Given the description of an element on the screen output the (x, y) to click on. 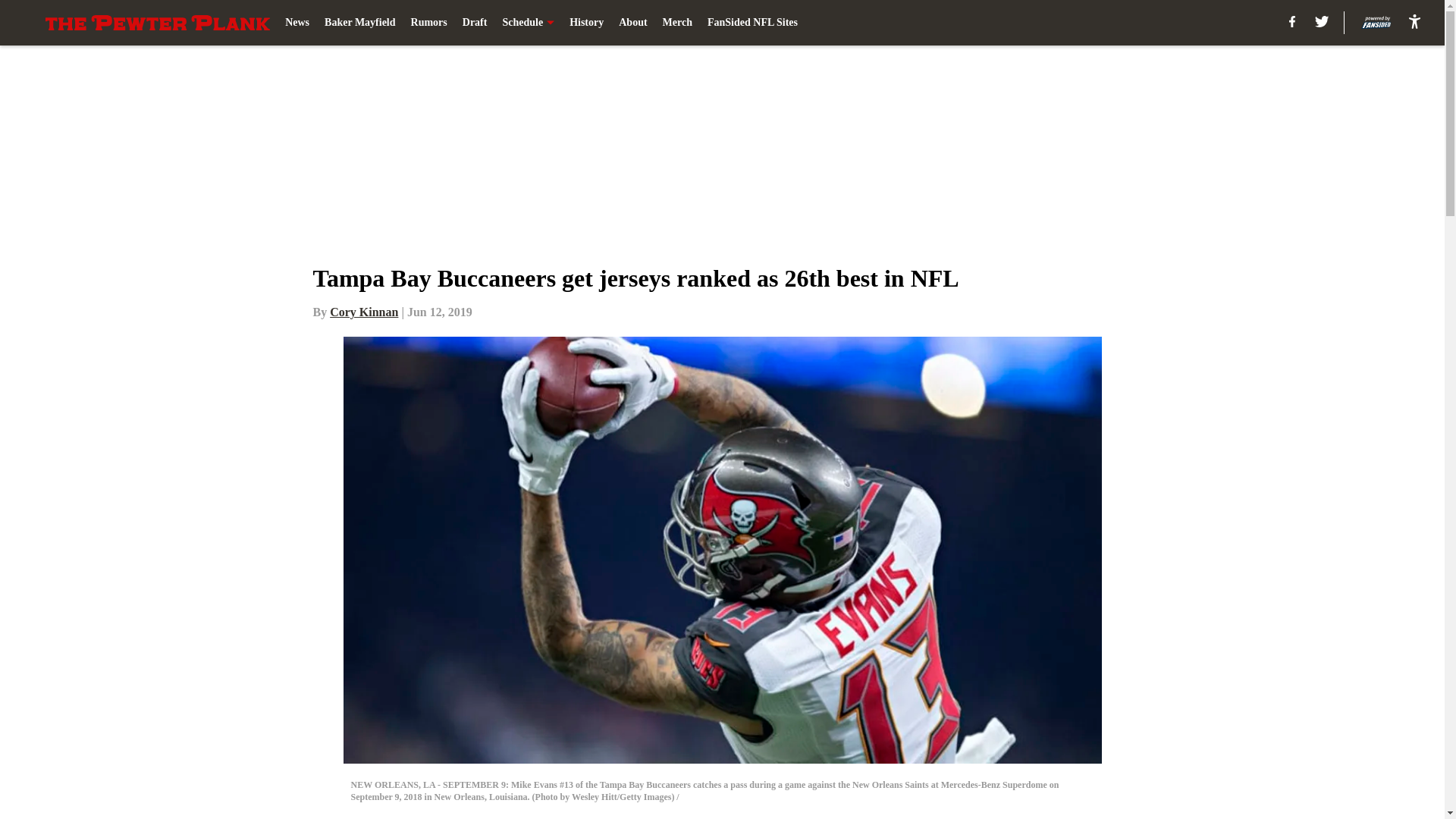
Draft (475, 22)
Baker Mayfield (359, 22)
FanSided NFL Sites (752, 22)
About (632, 22)
Rumors (428, 22)
Merch (677, 22)
History (586, 22)
Cory Kinnan (363, 311)
News (296, 22)
